Given the description of an element on the screen output the (x, y) to click on. 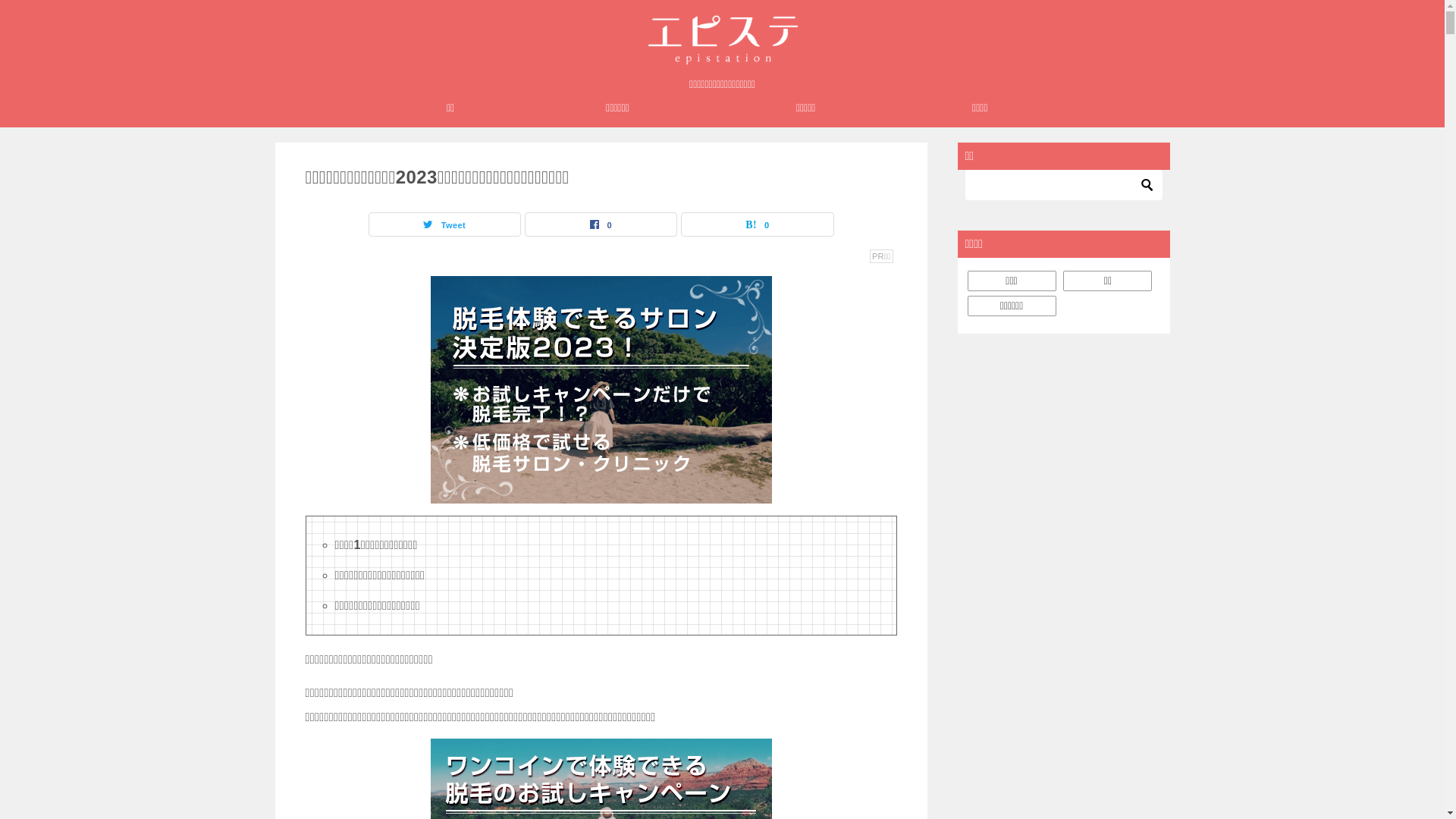
0 Element type: text (600, 224)
Tweet Element type: text (443, 224)
0 Element type: text (756, 224)
